Given the description of an element on the screen output the (x, y) to click on. 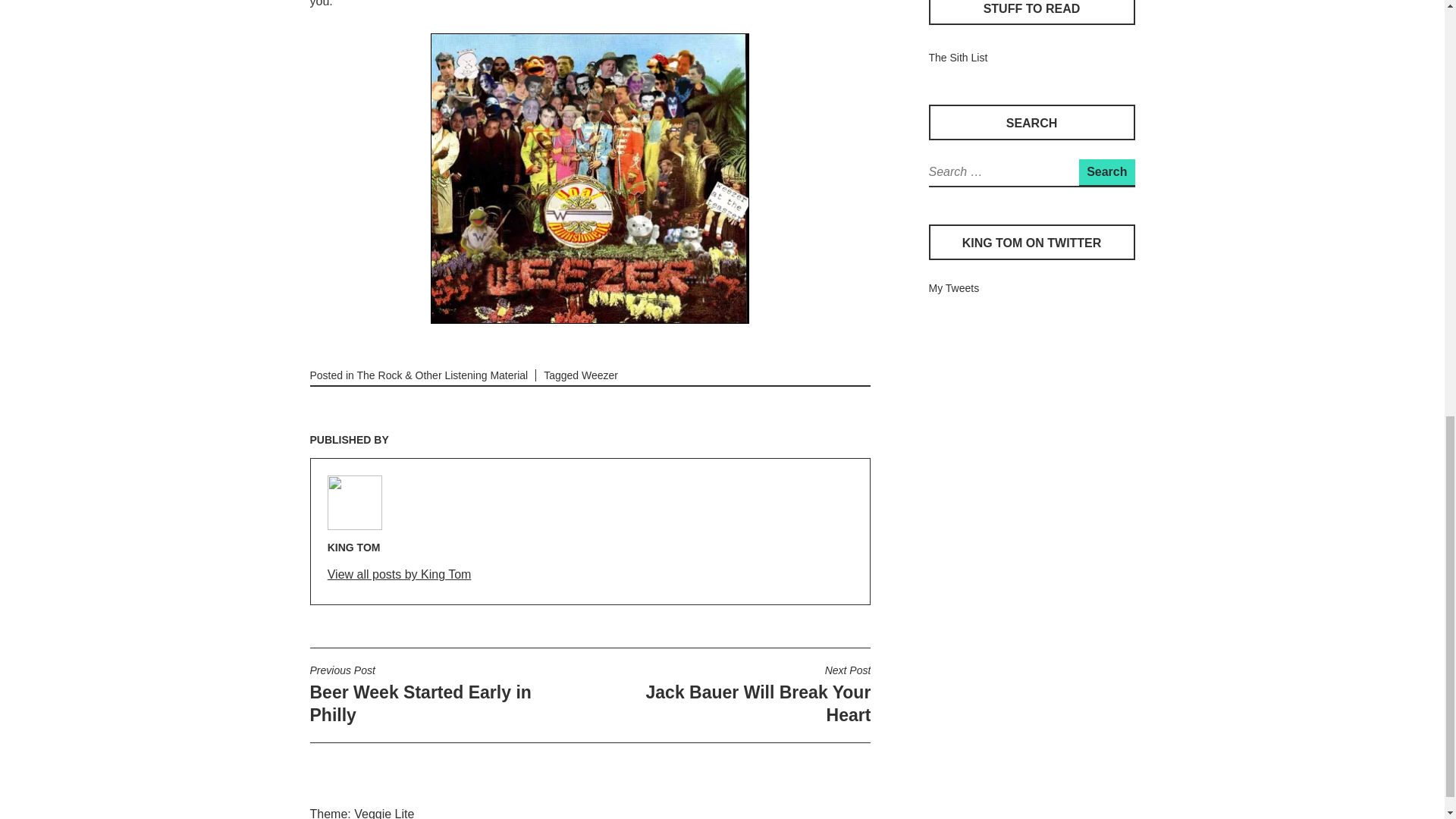
Weezer! (589, 178)
View all posts by King Tom (399, 575)
The Sith List (957, 57)
My Tweets (733, 695)
The Sith List, Fool! (953, 287)
Search (957, 57)
Search (1106, 171)
Weezer (1106, 171)
Search (598, 375)
